Given the description of an element on the screen output the (x, y) to click on. 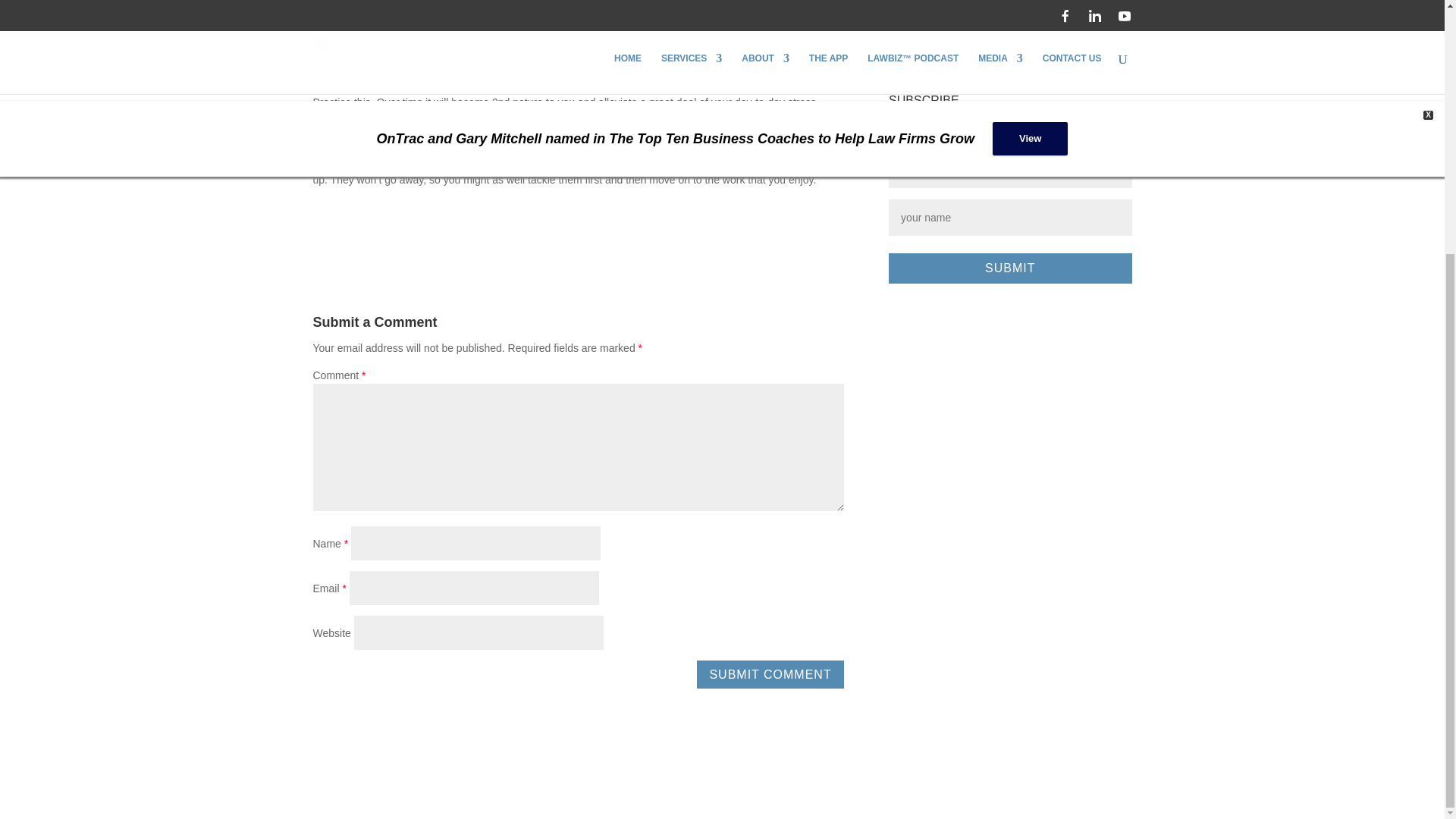
SUBMIT (1009, 268)
Submit Comment (770, 674)
Submit Comment (770, 674)
